Given the description of an element on the screen output the (x, y) to click on. 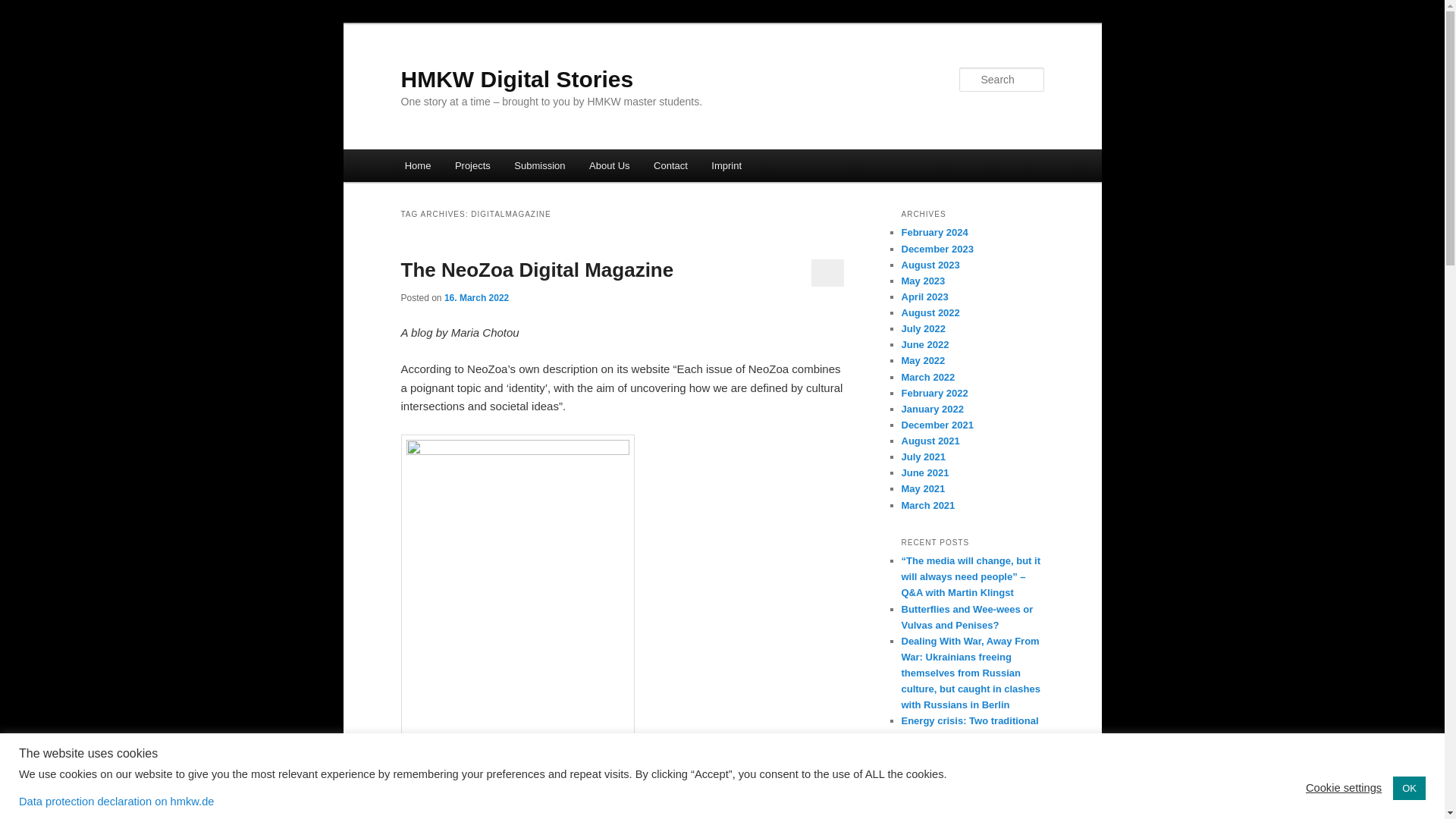
December 2023 (936, 248)
August 2022 (930, 312)
Home (417, 165)
February 2022 (934, 392)
January 2022 (931, 408)
August 2023 (930, 265)
Projects (472, 165)
June 2022 (925, 344)
HMKW Digital Stories (516, 78)
April 2023 (924, 296)
Search (24, 8)
March 2022 (928, 377)
16. March 2022 (476, 297)
Imprint (727, 165)
July 2022 (922, 328)
